Given the description of an element on the screen output the (x, y) to click on. 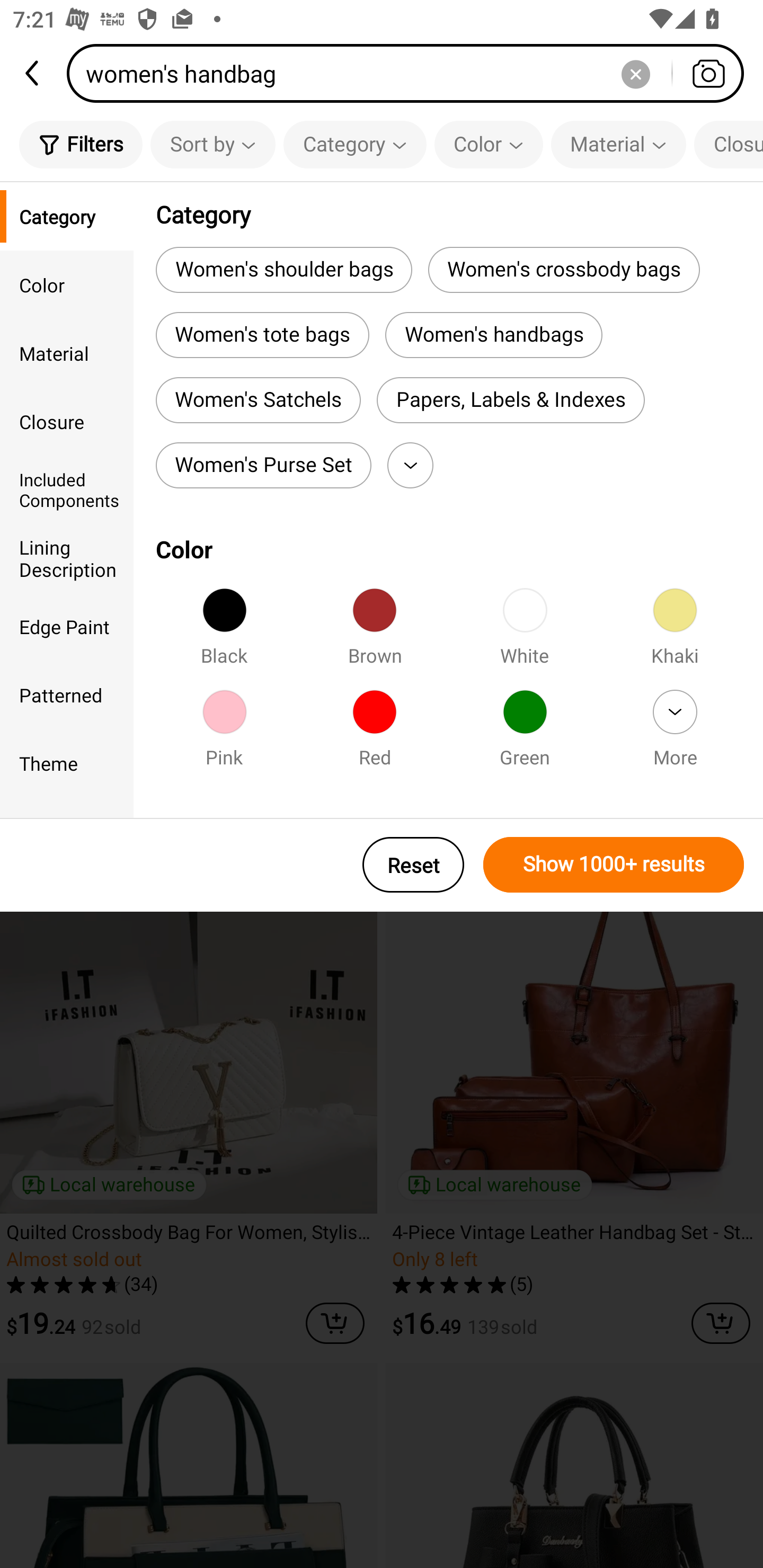
back (33, 72)
women's handbag (411, 73)
Delete search history (635, 73)
Search by photo (708, 73)
Filters (80, 143)
Sort by (212, 143)
Category (354, 143)
Color (488, 143)
Material (617, 143)
Closure (728, 143)
Category (66, 215)
Women's shoulder bags (283, 269)
Women's crossbody bags (563, 269)
Color (66, 284)
Women's tote bags (262, 334)
Women's handbags (493, 334)
Material (66, 352)
Women's Satchels (257, 400)
Papers, Labels & Indexes (510, 400)
Closure (66, 421)
Women's Purse Set (263, 464)
More (410, 464)
Included Components (66, 489)
Lining Description (66, 557)
Edge Paint (66, 626)
Patterned (66, 694)
More (674, 734)
Theme (66, 762)
Reset (412, 864)
Show 1000+ results (612, 864)
